Given the description of an element on the screen output the (x, y) to click on. 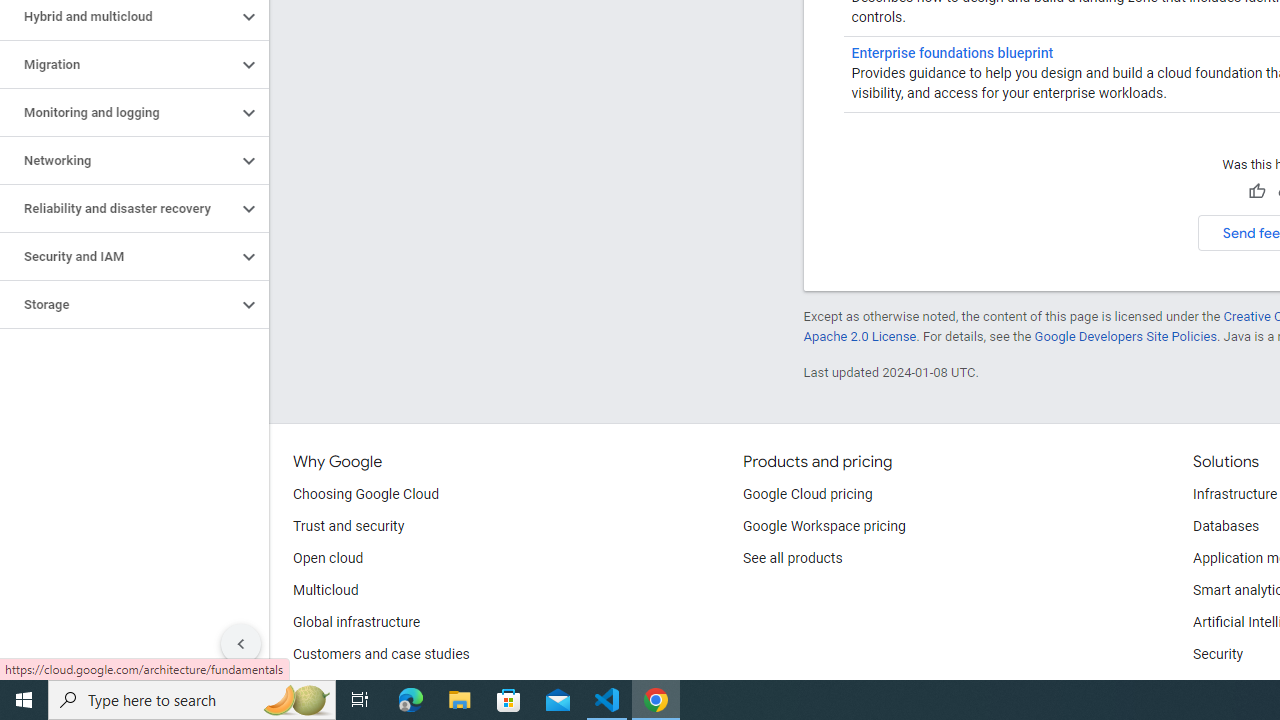
Security and IAM (118, 256)
Security (1218, 655)
Google Workspace pricing (824, 526)
Trust and security (348, 526)
Apache 2.0 License (859, 336)
Migration (118, 65)
Reliability and disaster recovery (118, 209)
Storage (118, 304)
See all products (792, 558)
Monitoring and logging (118, 112)
Databases (1225, 526)
Choosing Google Cloud (366, 494)
Enterprise foundations blueprint (952, 52)
Customers and case studies (381, 655)
Global infrastructure (357, 622)
